Given the description of an element on the screen output the (x, y) to click on. 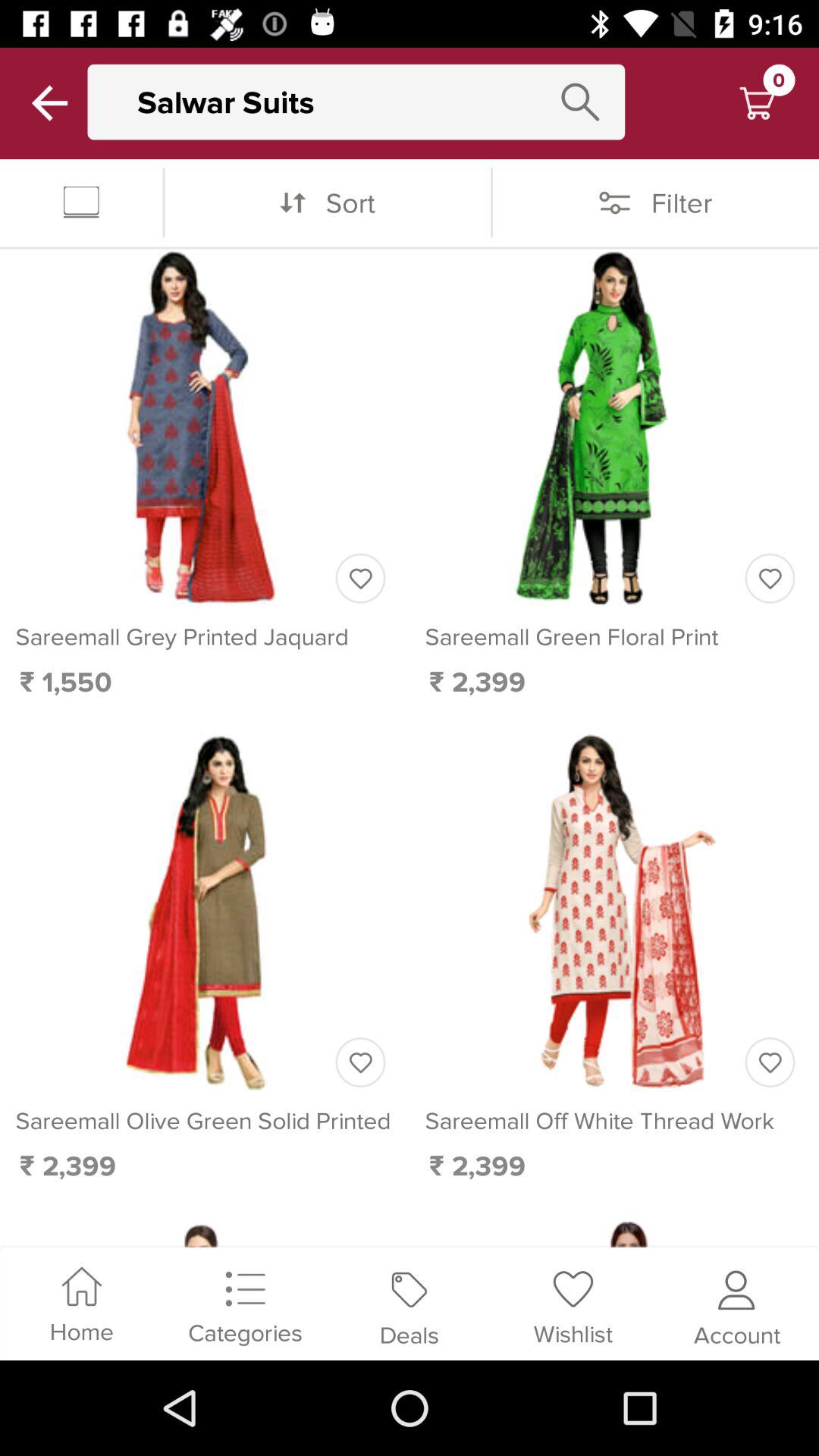
view cart (757, 103)
